Given the description of an element on the screen output the (x, y) to click on. 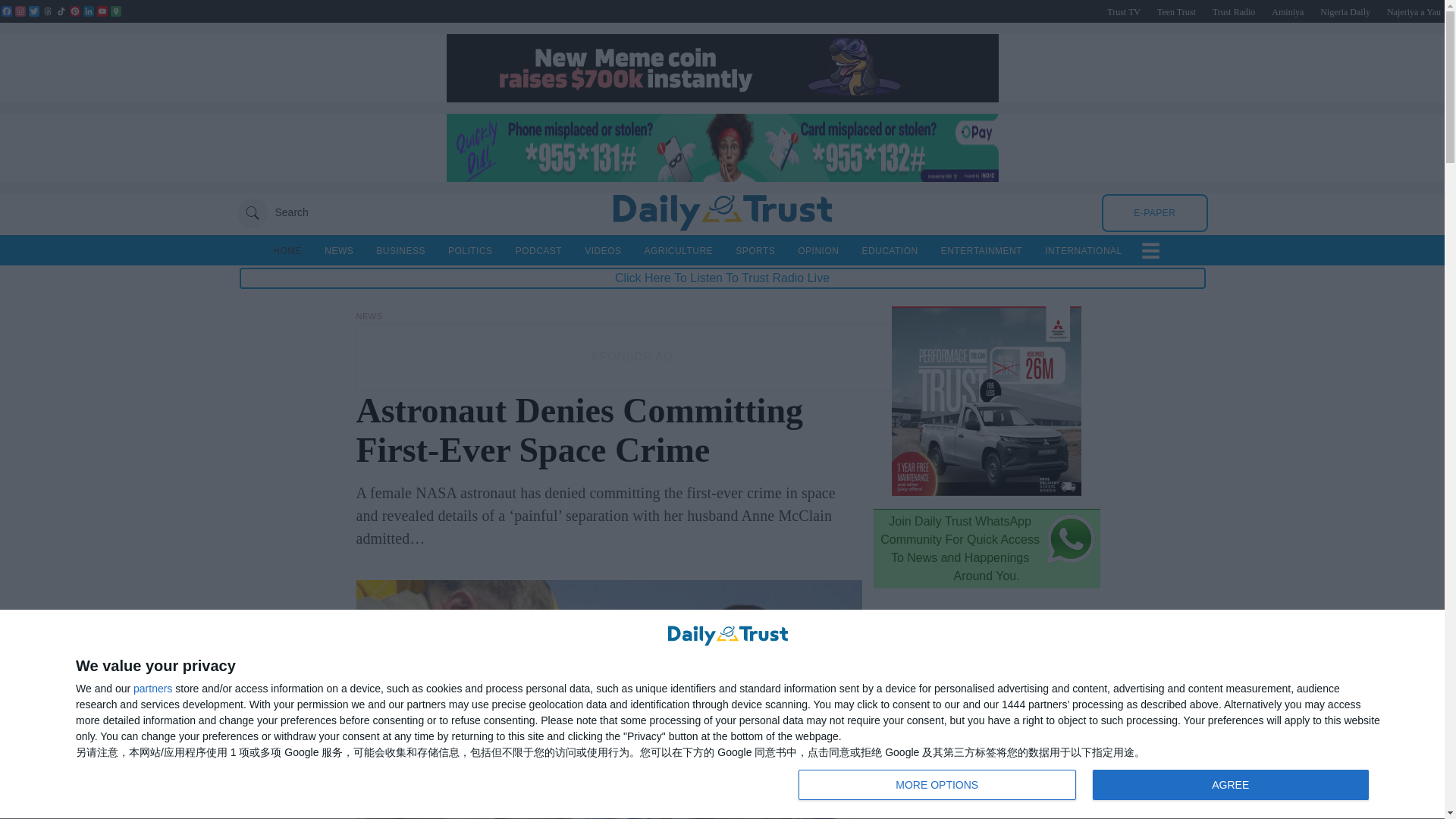
Instagram (20, 10)
Trust Radio (1233, 11)
Teen Trust (1176, 11)
PEPU Meme Coin (721, 97)
Search (271, 212)
partners (152, 688)
Trust TV Live (1123, 11)
Threads (47, 10)
Najeriya a Yau (1414, 11)
Saurari Shirye Shiryenmu (1414, 11)
Dailytrust (722, 212)
Trust Radio Live (1233, 11)
Aminiya (1287, 11)
Twitter (33, 10)
Trust TV (1123, 11)
